Given the description of an element on the screen output the (x, y) to click on. 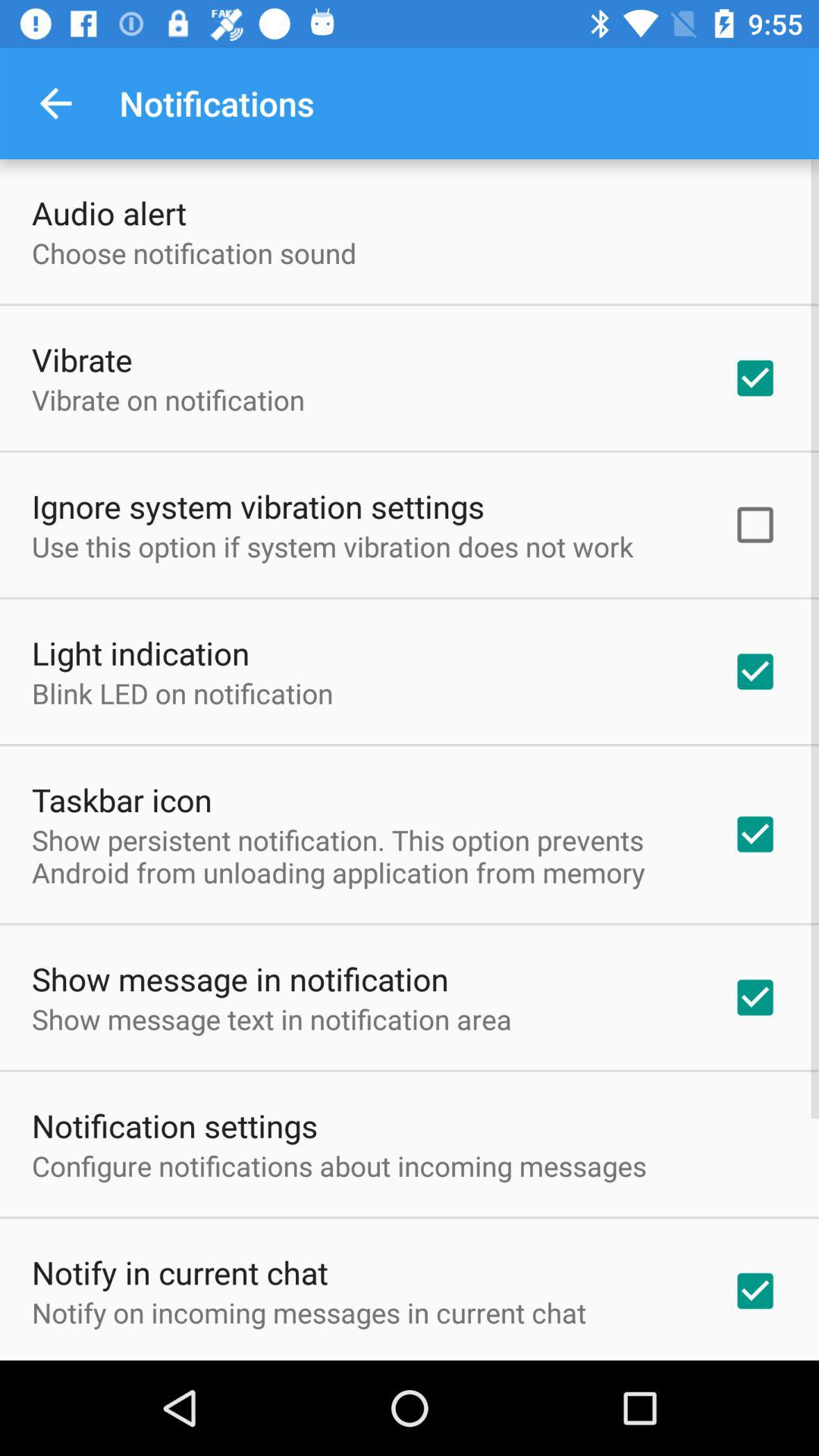
press item next to the notifications (55, 103)
